Given the description of an element on the screen output the (x, y) to click on. 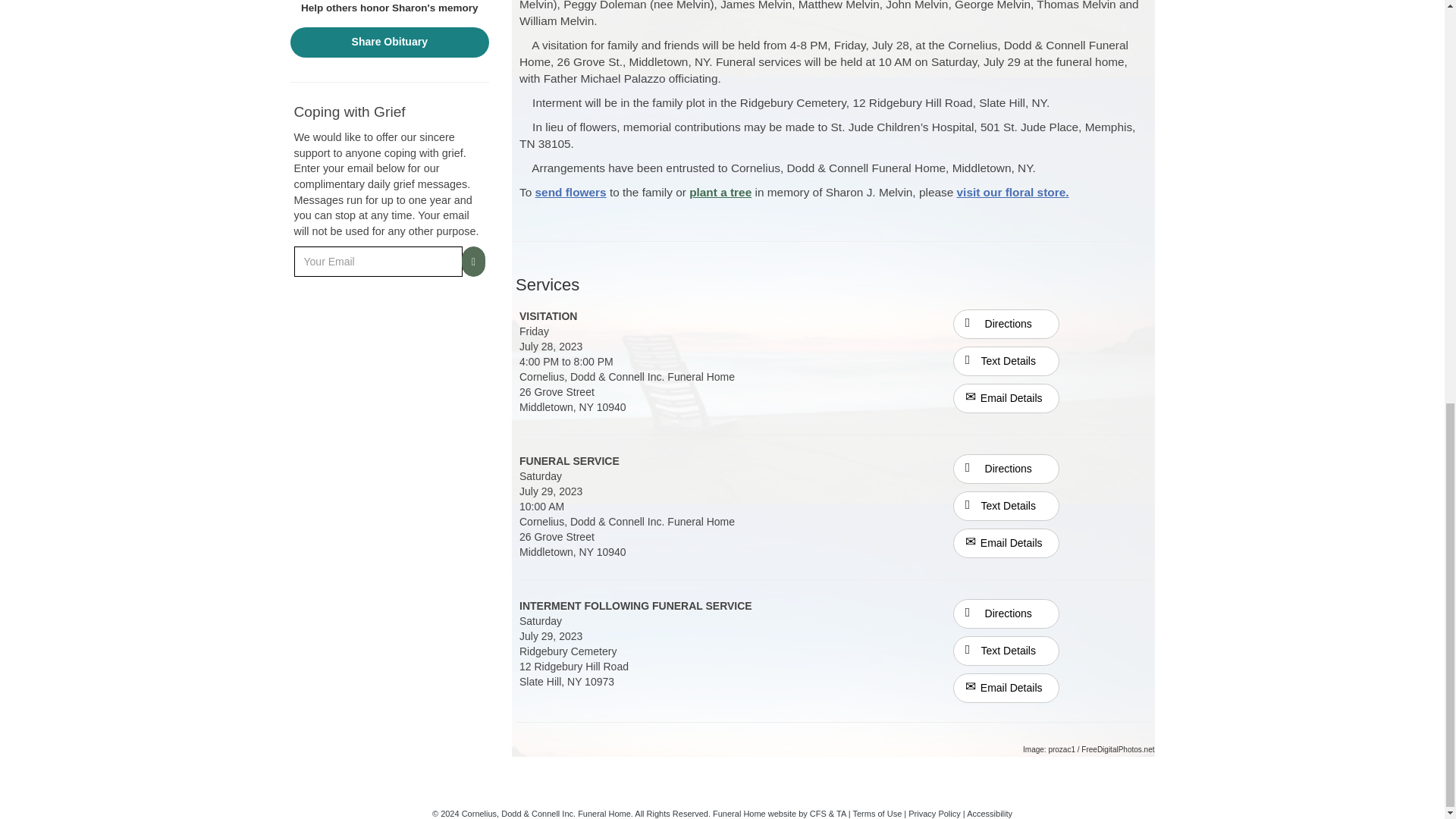
Directions (1006, 613)
Directions (1006, 469)
Directions (1006, 612)
Text Details (1006, 650)
Directions (1006, 324)
plant a tree (719, 192)
Directions (1006, 467)
Email Details (1006, 542)
Email Details (1006, 687)
visit our floral store. (1012, 192)
